Given the description of an element on the screen output the (x, y) to click on. 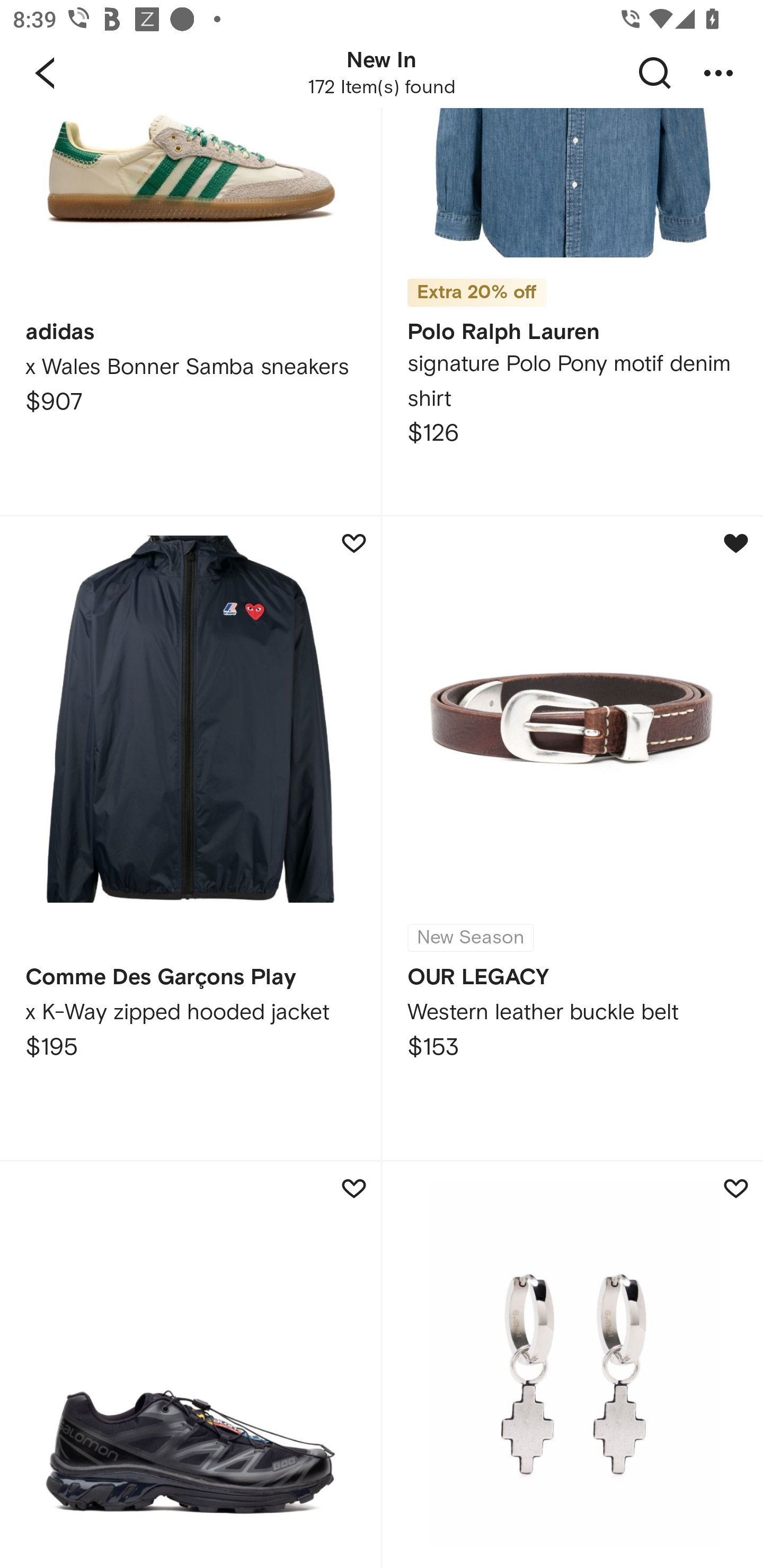
adidas x Wales Bonner Samba sneakers $907 (190, 311)
Extra 20% off (477, 286)
Extra 20% off (190, 1364)
